Given the description of an element on the screen output the (x, y) to click on. 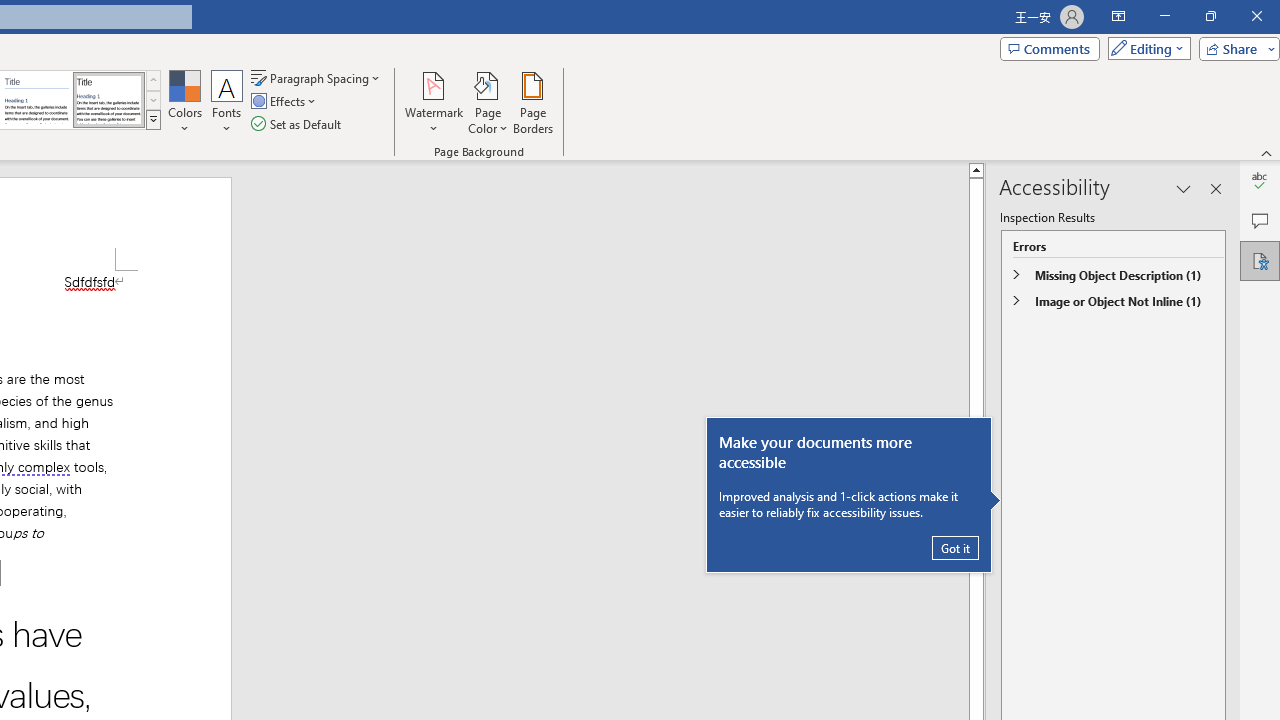
Got it (955, 547)
Set as Default (298, 124)
Accessibility (1260, 260)
Close pane (1215, 188)
Paragraph Spacing (317, 78)
Page Borders... (532, 102)
Effects (285, 101)
Editing (1144, 47)
Fonts (227, 102)
